Given the description of an element on the screen output the (x, y) to click on. 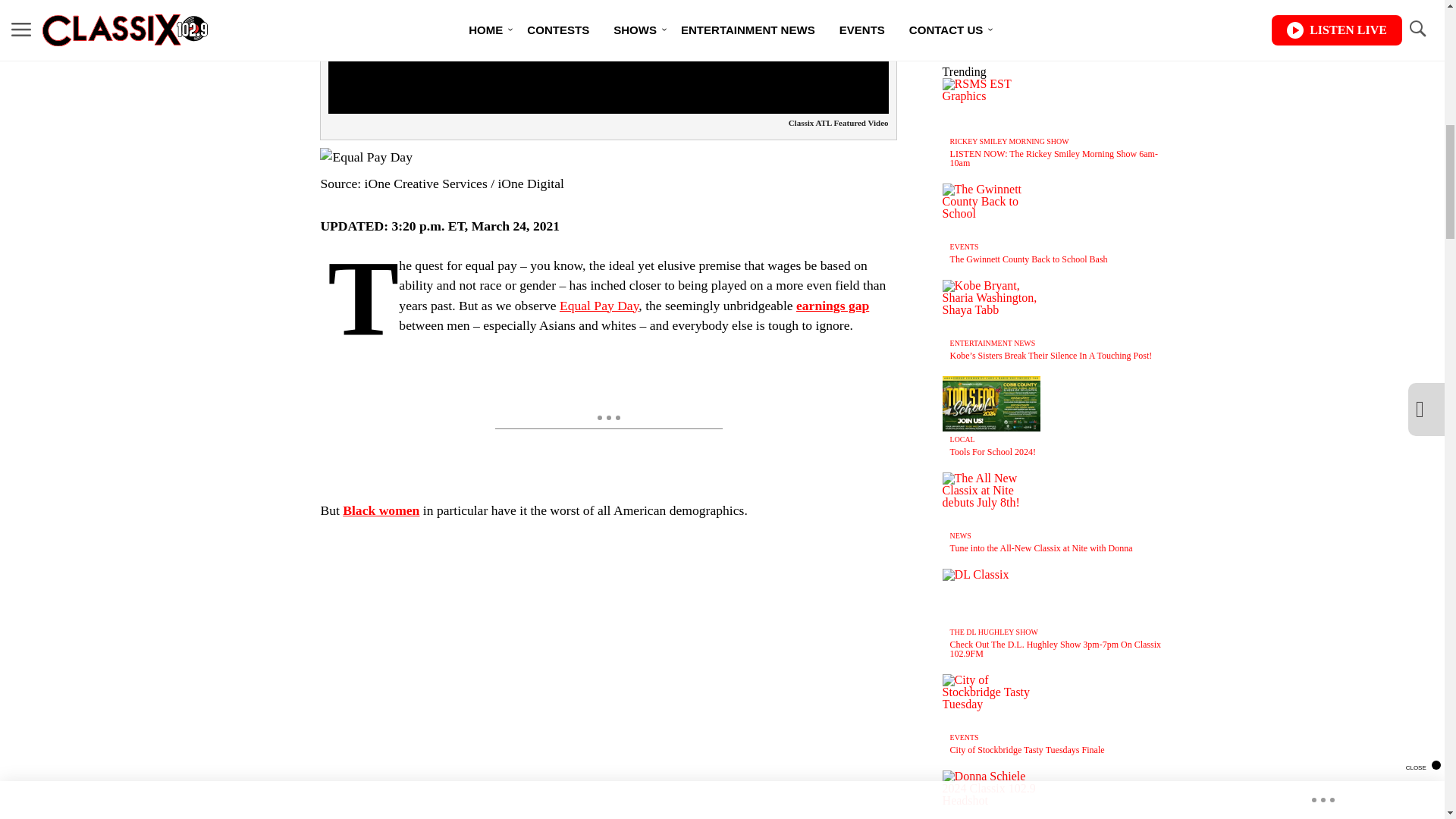
earnings gap (832, 305)
Black women (380, 509)
Equal Pay Day (599, 305)
